Given the description of an element on the screen output the (x, y) to click on. 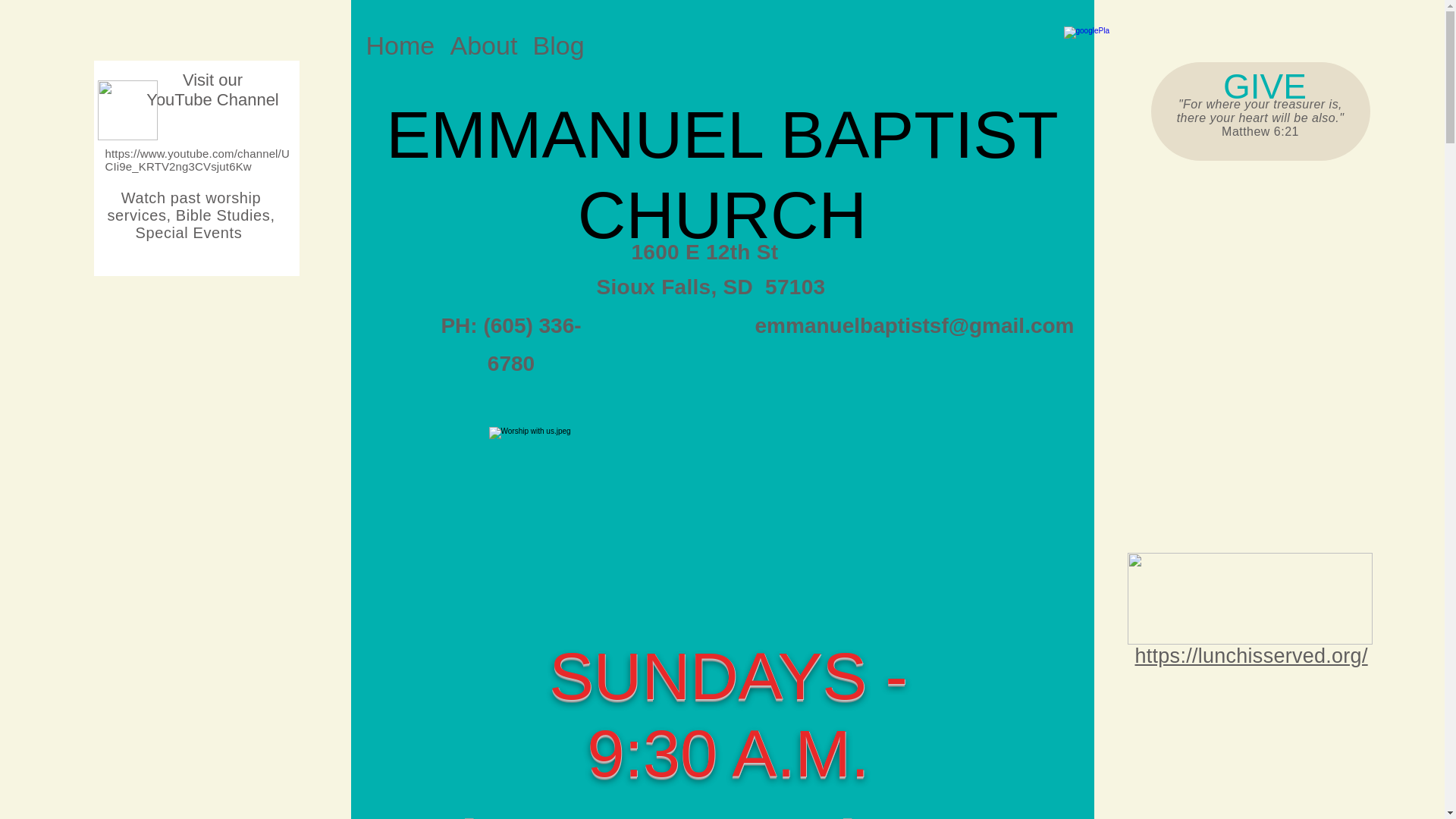
About (483, 44)
Blog (557, 44)
Lunch is Served color NEW.jpg (1248, 598)
Home (400, 44)
GIVE (1264, 86)
youtube-new-155631998.webp (127, 110)
